Given the description of an element on the screen output the (x, y) to click on. 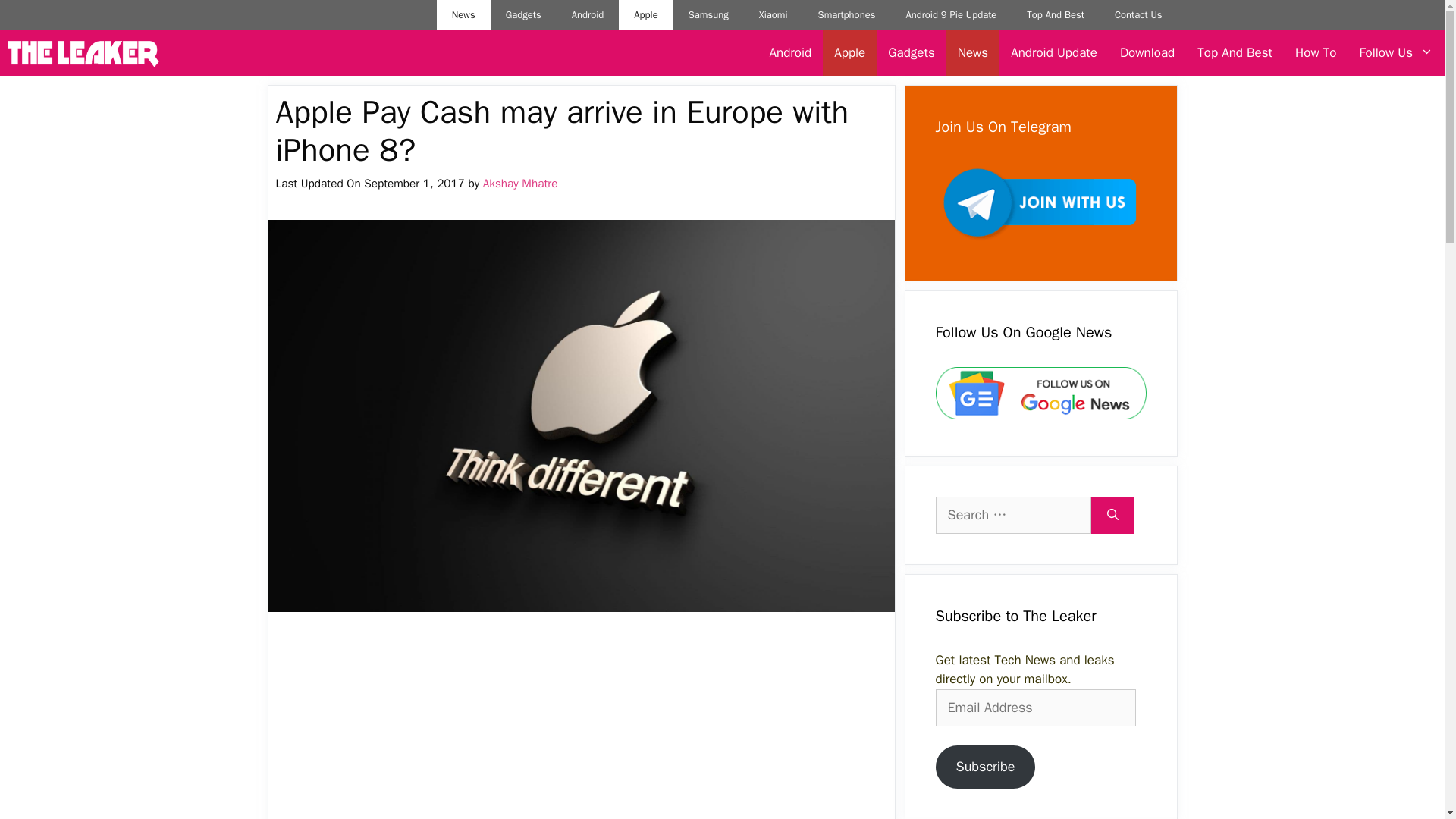
News (972, 53)
Android (791, 53)
Contact Us (1138, 15)
Search for: (1013, 514)
Top And Best (1235, 53)
Xiaomi (773, 15)
Top And Best (1055, 15)
Apple (645, 15)
Download (1147, 53)
The Leaker (82, 53)
View all posts by Akshay Mhatre (520, 183)
Gadgets (910, 53)
Gadgets (523, 15)
Smartphones (847, 15)
Android Update (1053, 53)
